Given the description of an element on the screen output the (x, y) to click on. 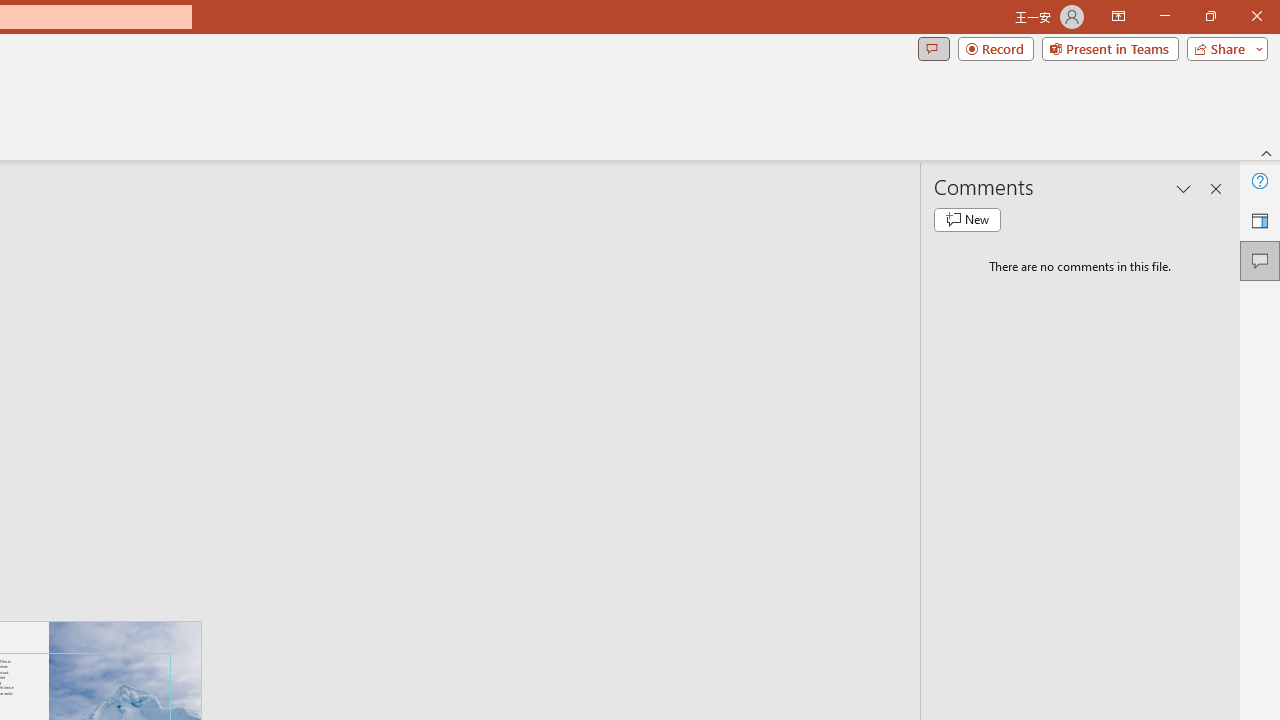
New comment (967, 219)
